Given the description of an element on the screen output the (x, y) to click on. 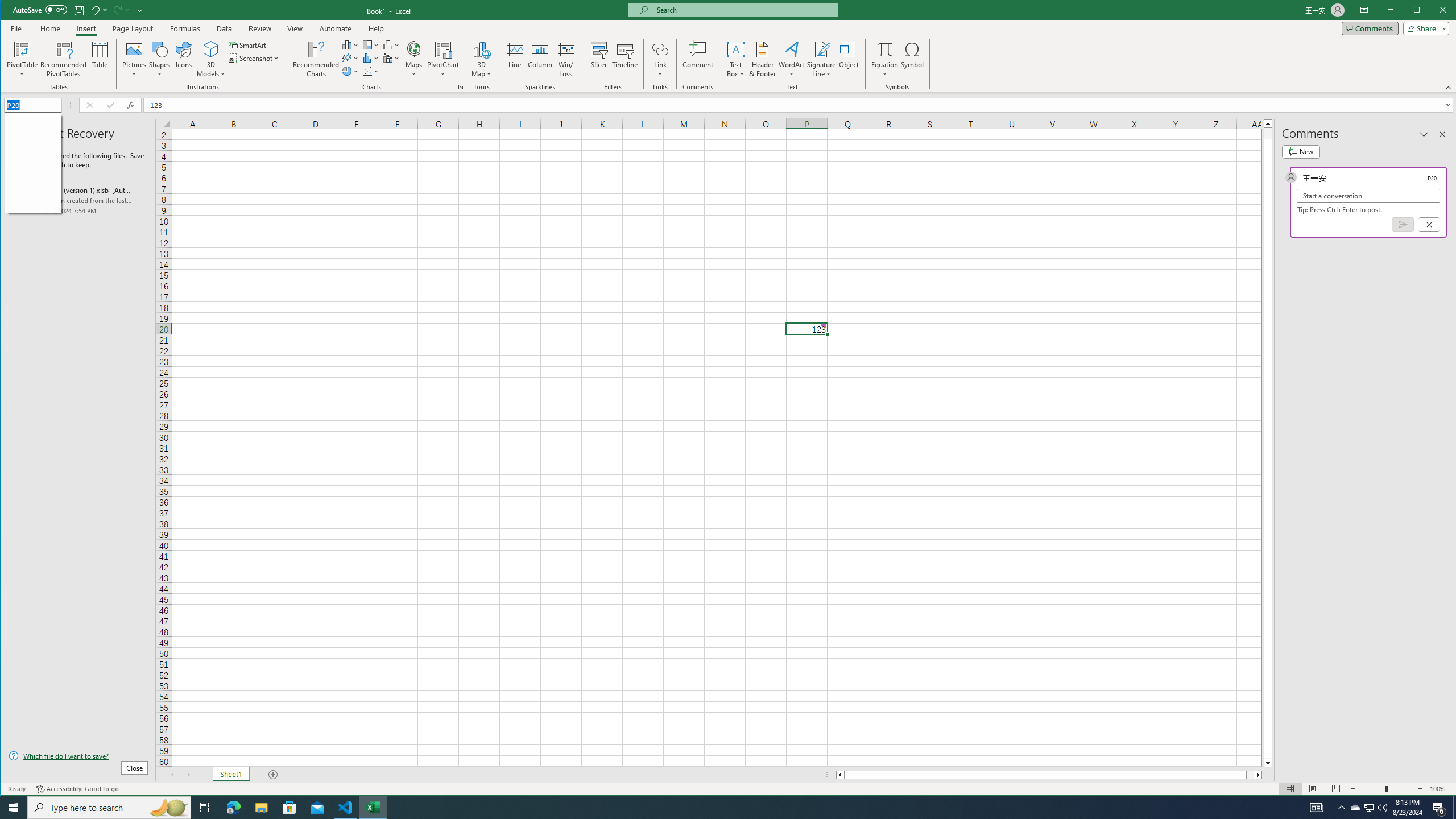
Screenshot (254, 57)
Link (659, 48)
Table (100, 59)
Post comment (Ctrl + Enter) (1402, 224)
3D Map (481, 48)
3D Models (211, 48)
Symbol... (912, 59)
Task View (204, 807)
Maps (413, 59)
